Given the description of an element on the screen output the (x, y) to click on. 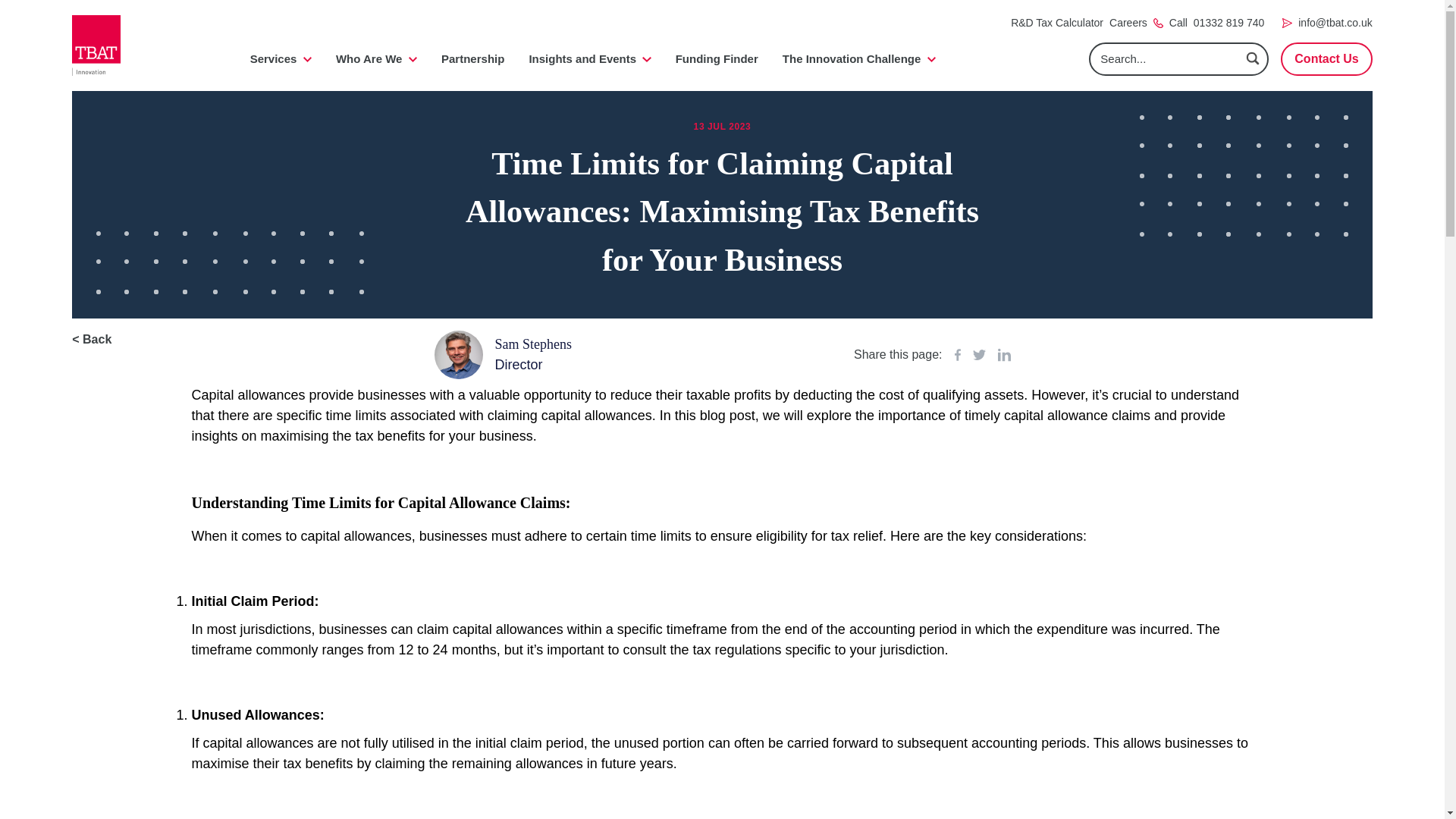
Insights and Events (589, 58)
Services (280, 58)
Who Are We (376, 58)
Careers (1128, 23)
Partnership (472, 58)
01332 819 740 (1228, 23)
Search (1252, 57)
